Given the description of an element on the screen output the (x, y) to click on. 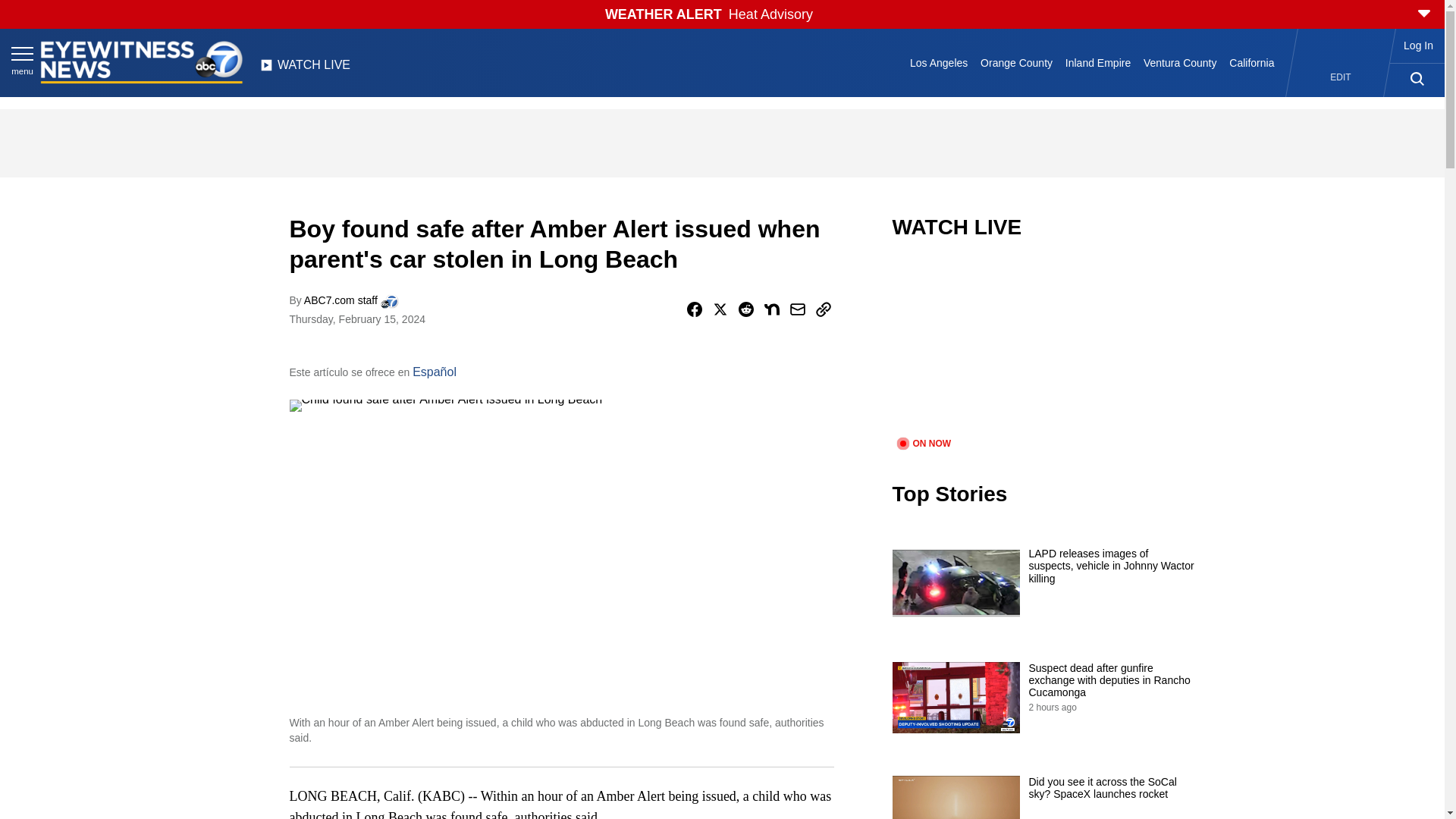
WATCH LIVE (305, 69)
Inland Empire (1097, 62)
EDIT (1340, 77)
California (1252, 62)
Ventura County (1180, 62)
Los Angeles (939, 62)
Orange County (1016, 62)
video.title (1043, 347)
